Given the description of an element on the screen output the (x, y) to click on. 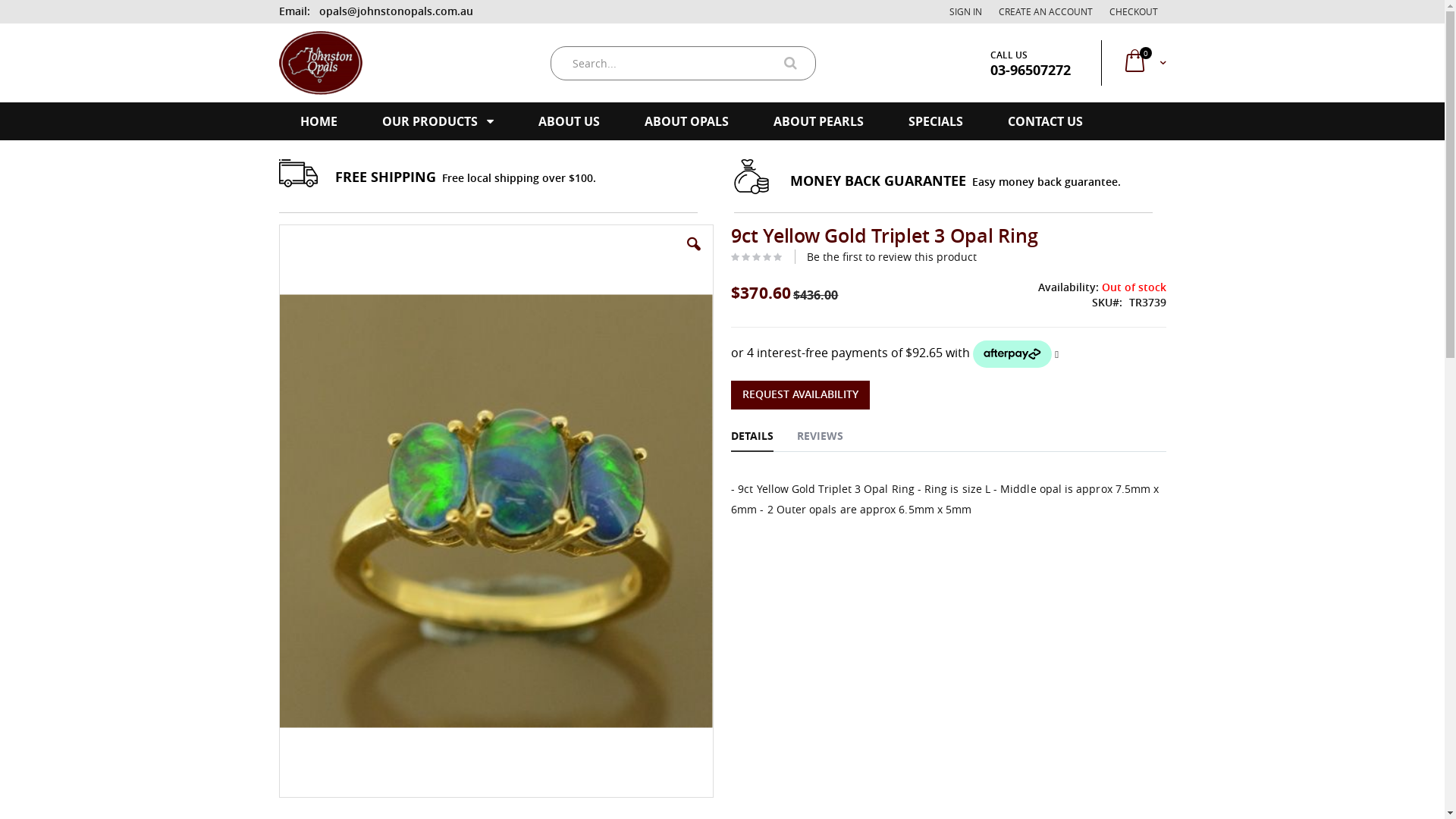
CONTACT US Element type: text (1044, 121)
CHECKOUT Element type: text (1133, 11)
Be the first to review this product Element type: text (891, 256)
CREATE AN ACCOUNT Element type: text (1045, 11)
HOME Element type: text (318, 121)
03-96507272 Element type: text (1030, 69)
Johnston Opal Jewellery Element type: hover (320, 62)
Skip to the beginning of the images gallery Element type: text (277, 798)
SPECIALS Element type: text (935, 121)
REVIEWS Element type: text (820, 437)
SIGN IN Element type: text (964, 11)
ABOUT OPALS Element type: text (686, 121)
Skip to Content Element type: text (277, 3)
OUR PRODUCTS Element type: text (437, 121)
DETAILS Element type: text (752, 437)
Skip to the end of the images gallery Element type: text (277, 223)
REQUEST AVAILABILITY Element type: text (800, 394)
Cart
0 Element type: text (1144, 62)
ABOUT PEARLS Element type: text (818, 121)
ABOUT US Element type: text (569, 121)
Search Element type: text (798, 63)
opals@johnstonopals.com.au Element type: text (392, 10)
